Given the description of an element on the screen output the (x, y) to click on. 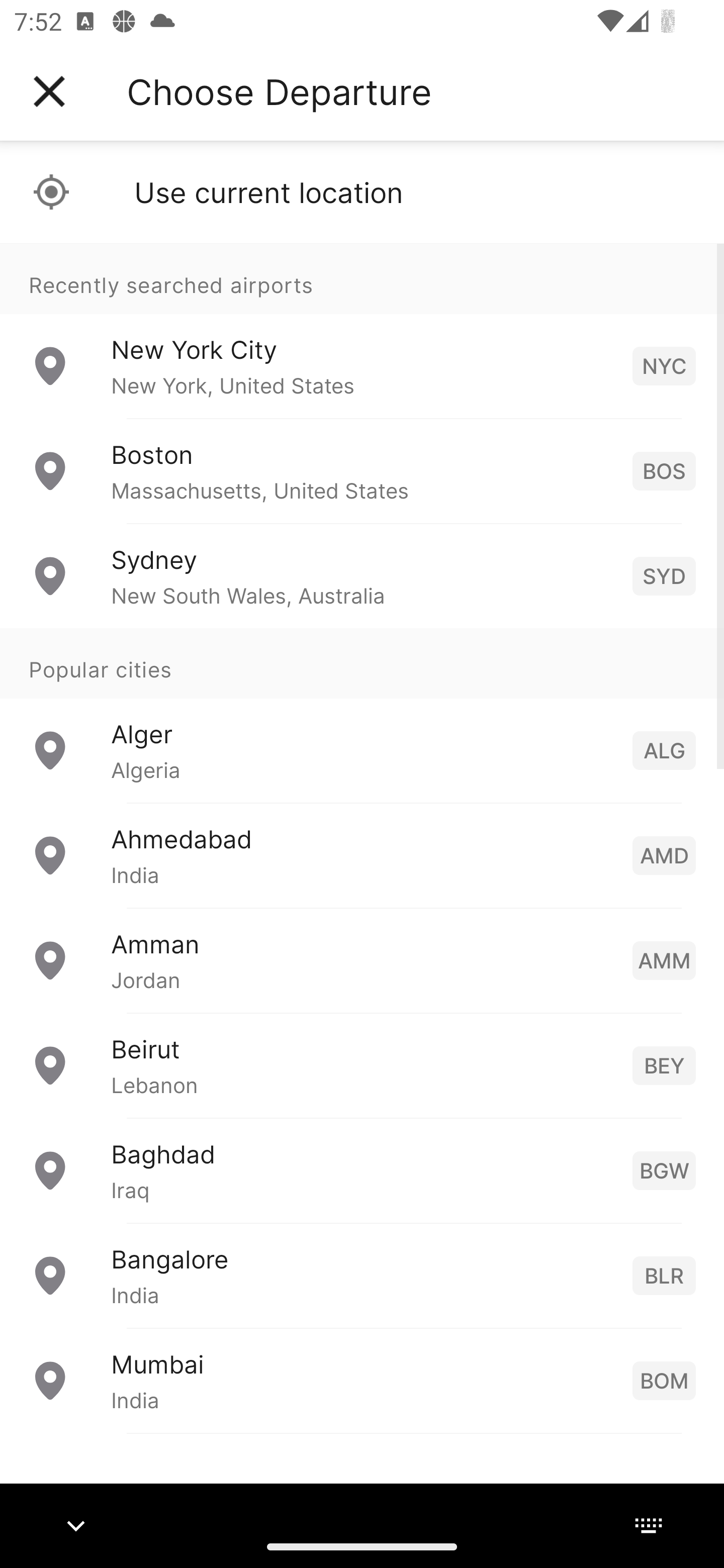
Choose Departure (279, 91)
Use current location (362, 192)
Recently searched airports (362, 278)
Boston Massachusetts, United States BOS (362, 470)
Sydney New South Wales, Australia SYD (362, 575)
Popular cities Alger Algeria ALG (362, 715)
Popular cities (362, 663)
Ahmedabad India AMD (362, 854)
Amman Jordan AMM (362, 959)
Beirut Lebanon BEY (362, 1064)
Baghdad Iraq BGW (362, 1170)
Bangalore India BLR (362, 1275)
Mumbai India BOM (362, 1380)
